Given the description of an element on the screen output the (x, y) to click on. 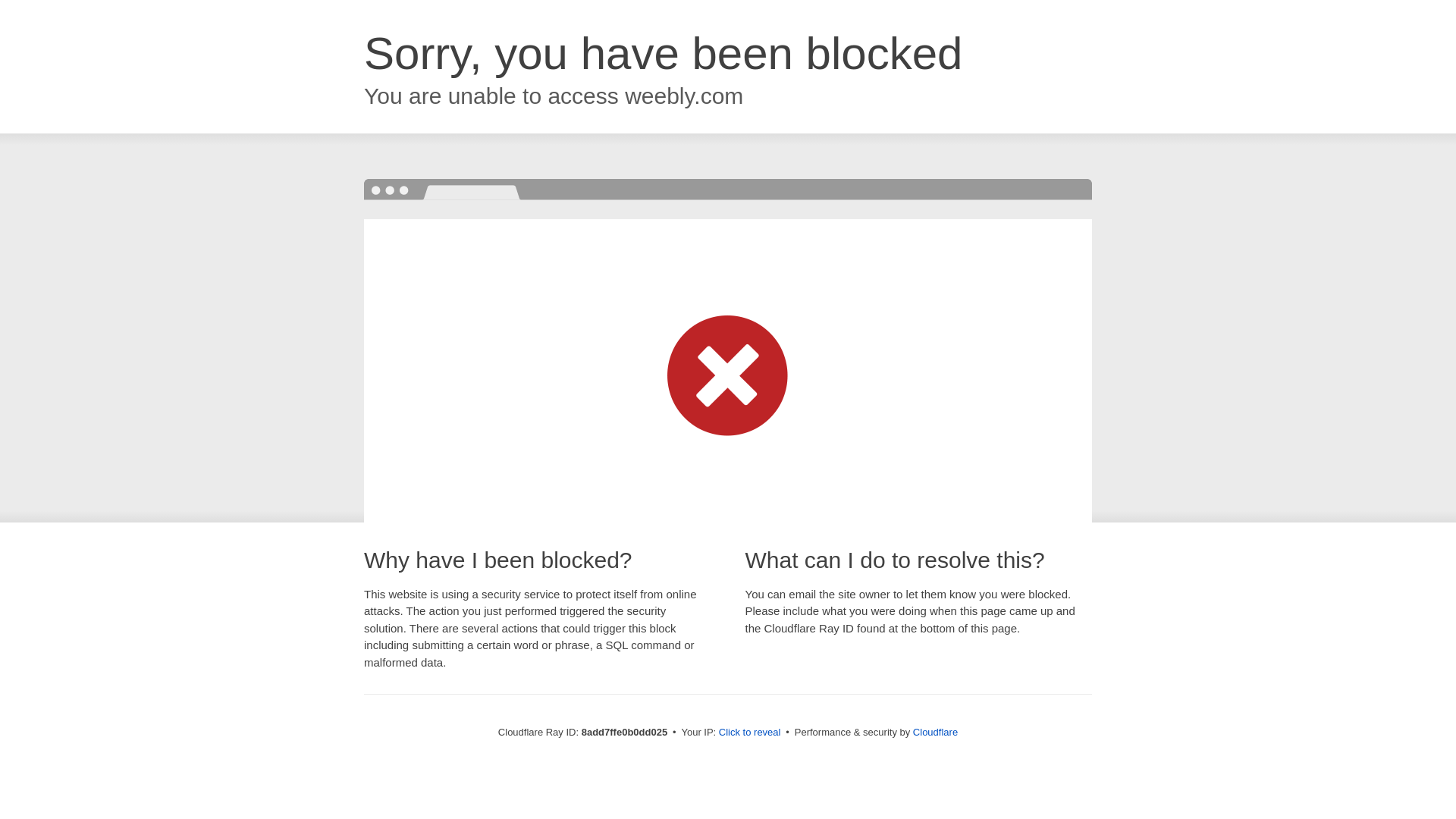
Cloudflare (935, 731)
Click to reveal (749, 732)
